Given the description of an element on the screen output the (x, y) to click on. 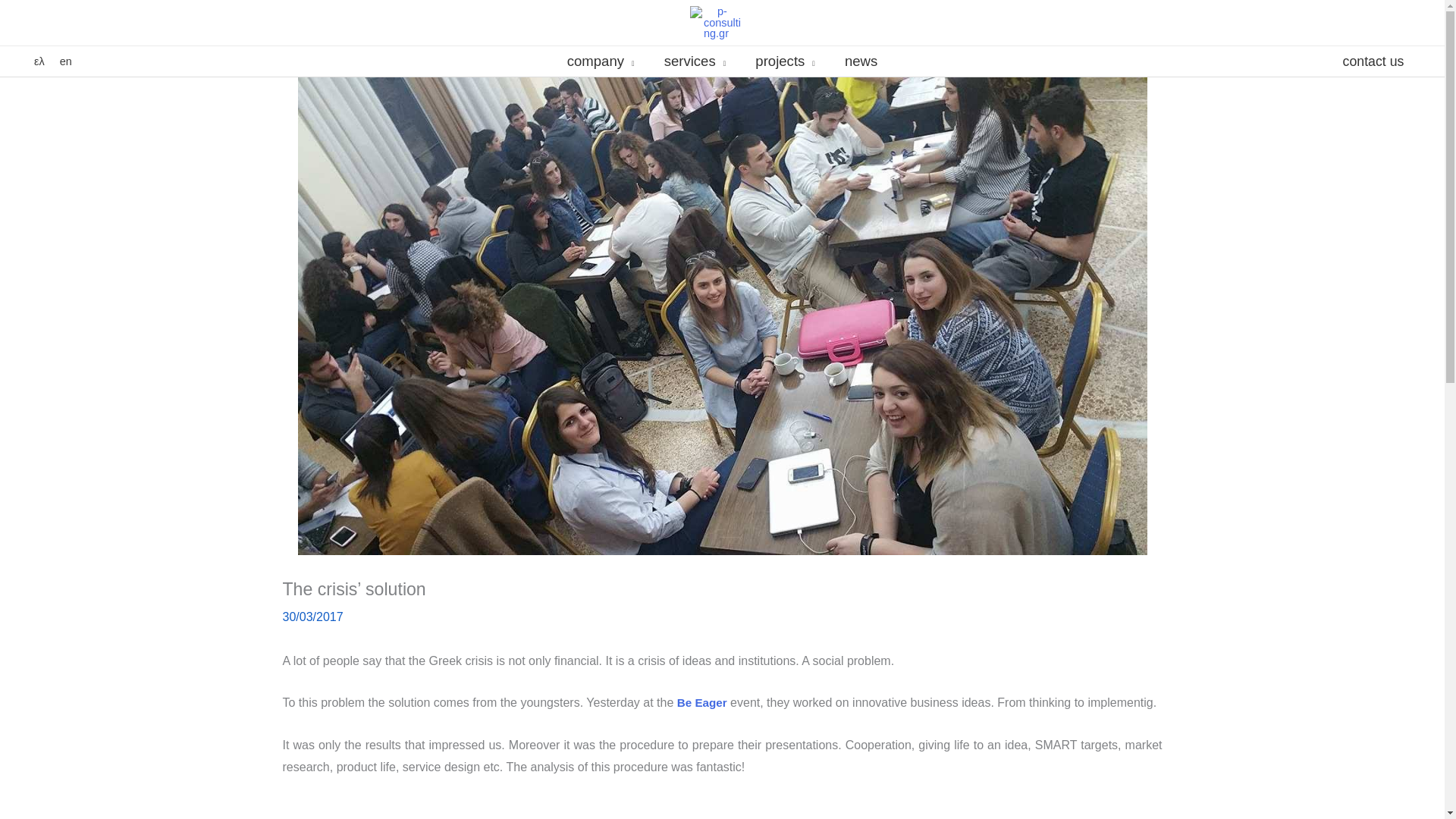
company (600, 60)
news (860, 60)
check our eu projects (785, 60)
whatever you want to know for us (600, 60)
en (65, 61)
check our services (695, 60)
stay tuned (860, 60)
projects (785, 60)
contact us (1372, 60)
services (695, 60)
